Given the description of an element on the screen output the (x, y) to click on. 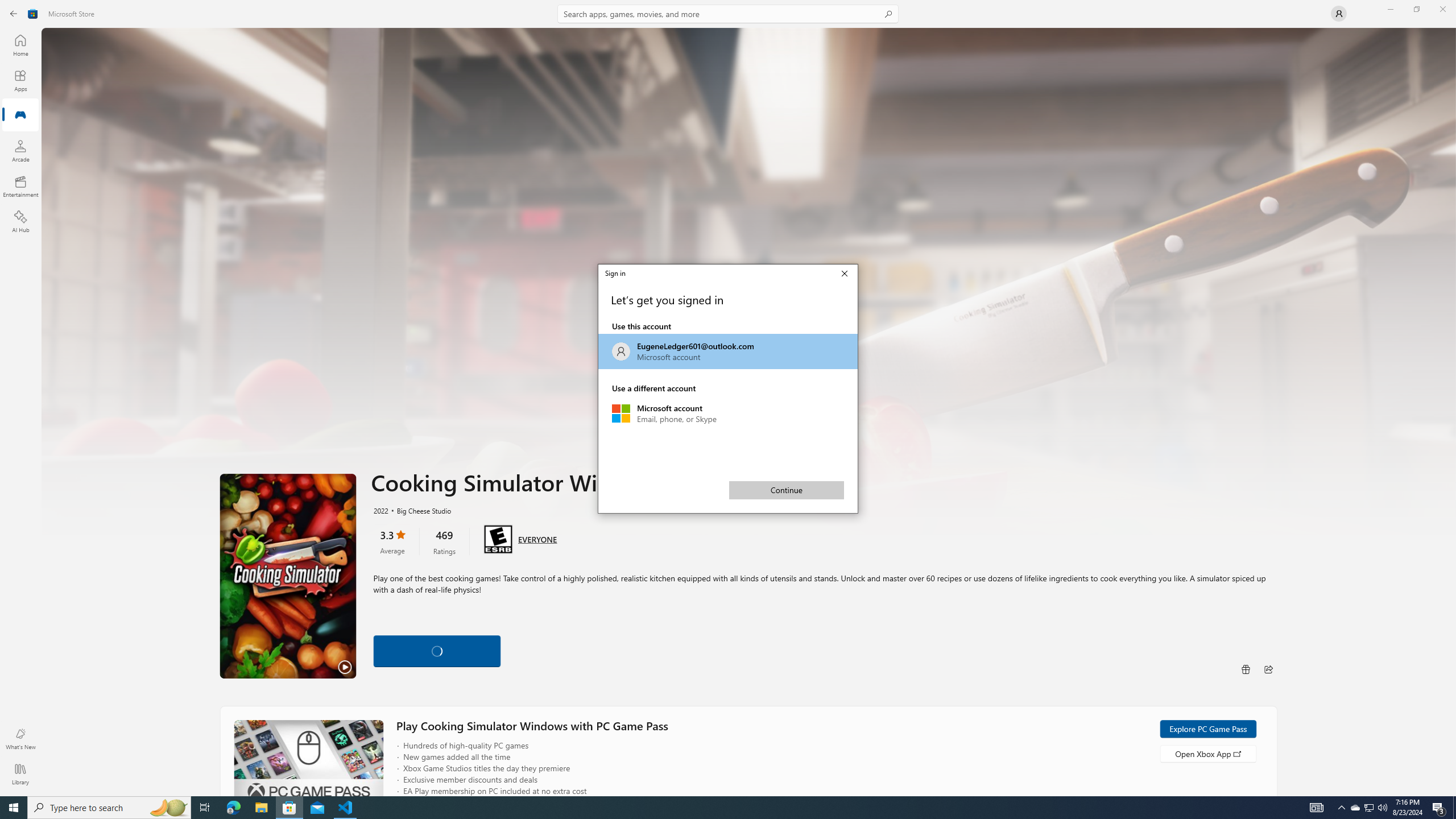
Running applications (717, 807)
3.3 stars. Click to skip to ratings and reviews (392, 541)
Share (727, 351)
Start (1267, 669)
File Explorer (13, 807)
Search highlights icon opens search home window (1368, 807)
Show desktop (261, 807)
Close Sign in (167, 807)
